Given the description of an element on the screen output the (x, y) to click on. 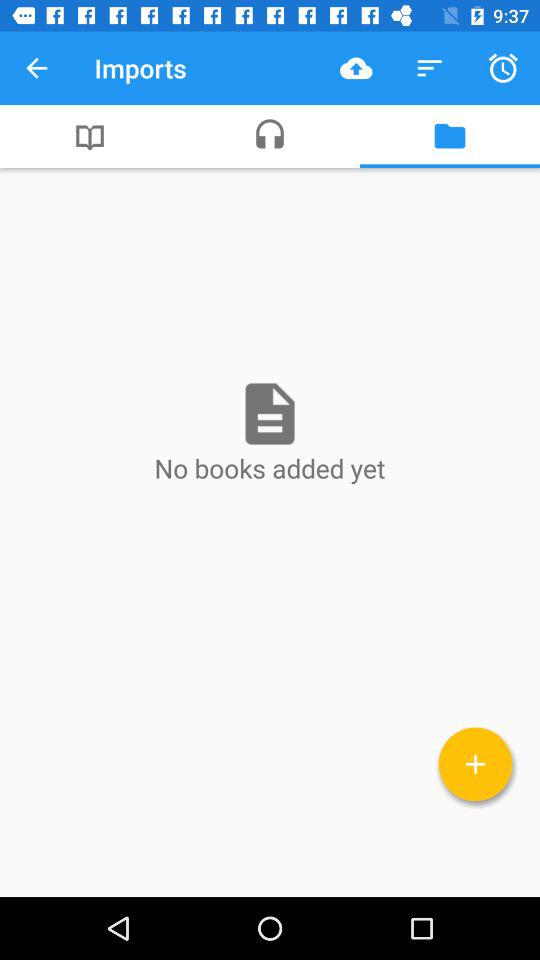
add book (475, 764)
